Given the description of an element on the screen output the (x, y) to click on. 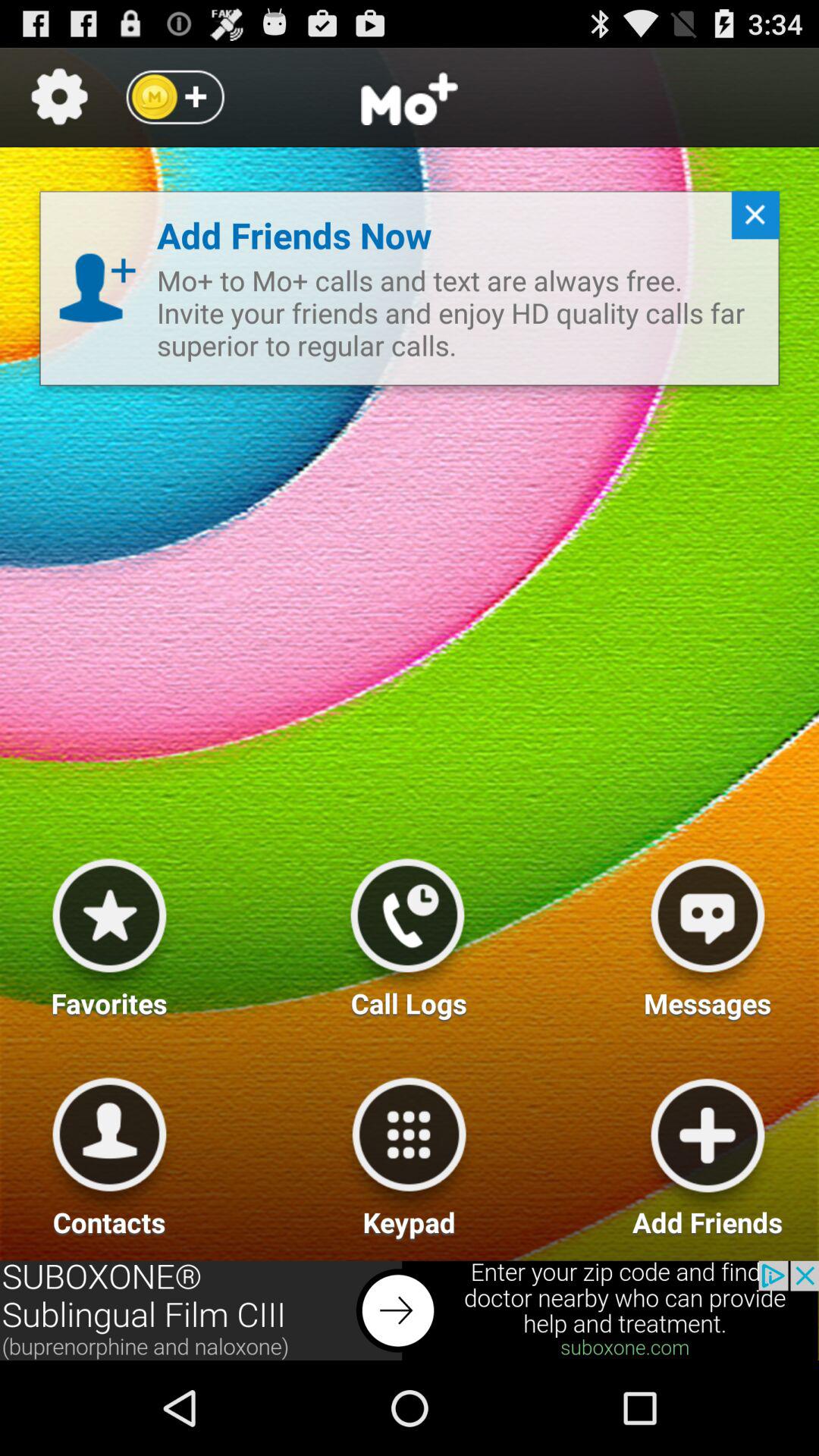
go to add button (707, 1151)
